Given the description of an element on the screen output the (x, y) to click on. 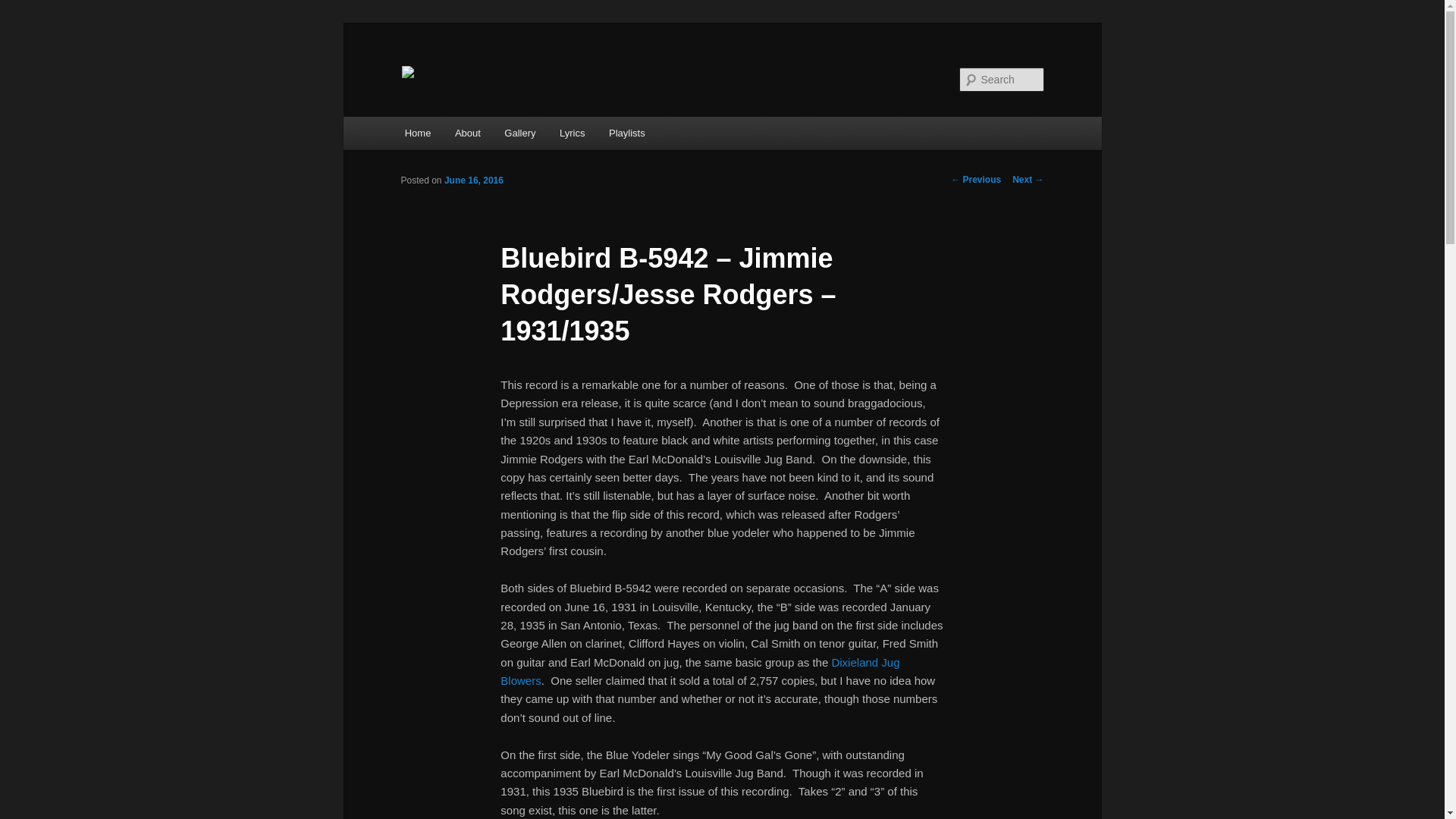
7:00 pm (473, 180)
Lyrics (571, 133)
Gallery (520, 133)
Search (24, 8)
About (467, 133)
Home (417, 133)
Playlists (626, 133)
